Given the description of an element on the screen output the (x, y) to click on. 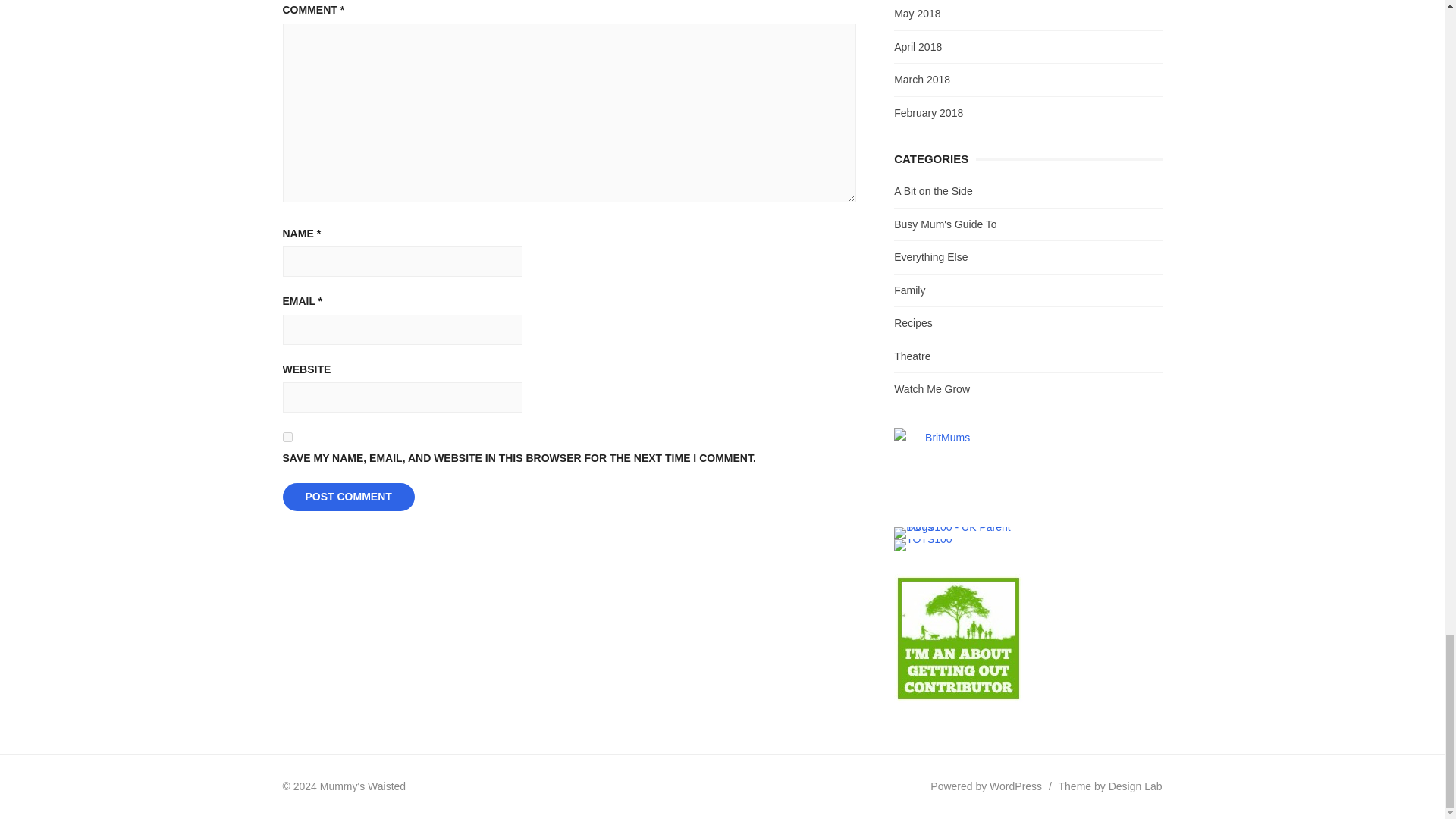
TOTS100 (922, 544)
Post Comment (347, 497)
yes (287, 437)
TOTS100 - UK Parent Blogs (956, 532)
TOTS100 (922, 539)
TOTS 100 - UK Parent Blogs (956, 526)
